Given the description of an element on the screen output the (x, y) to click on. 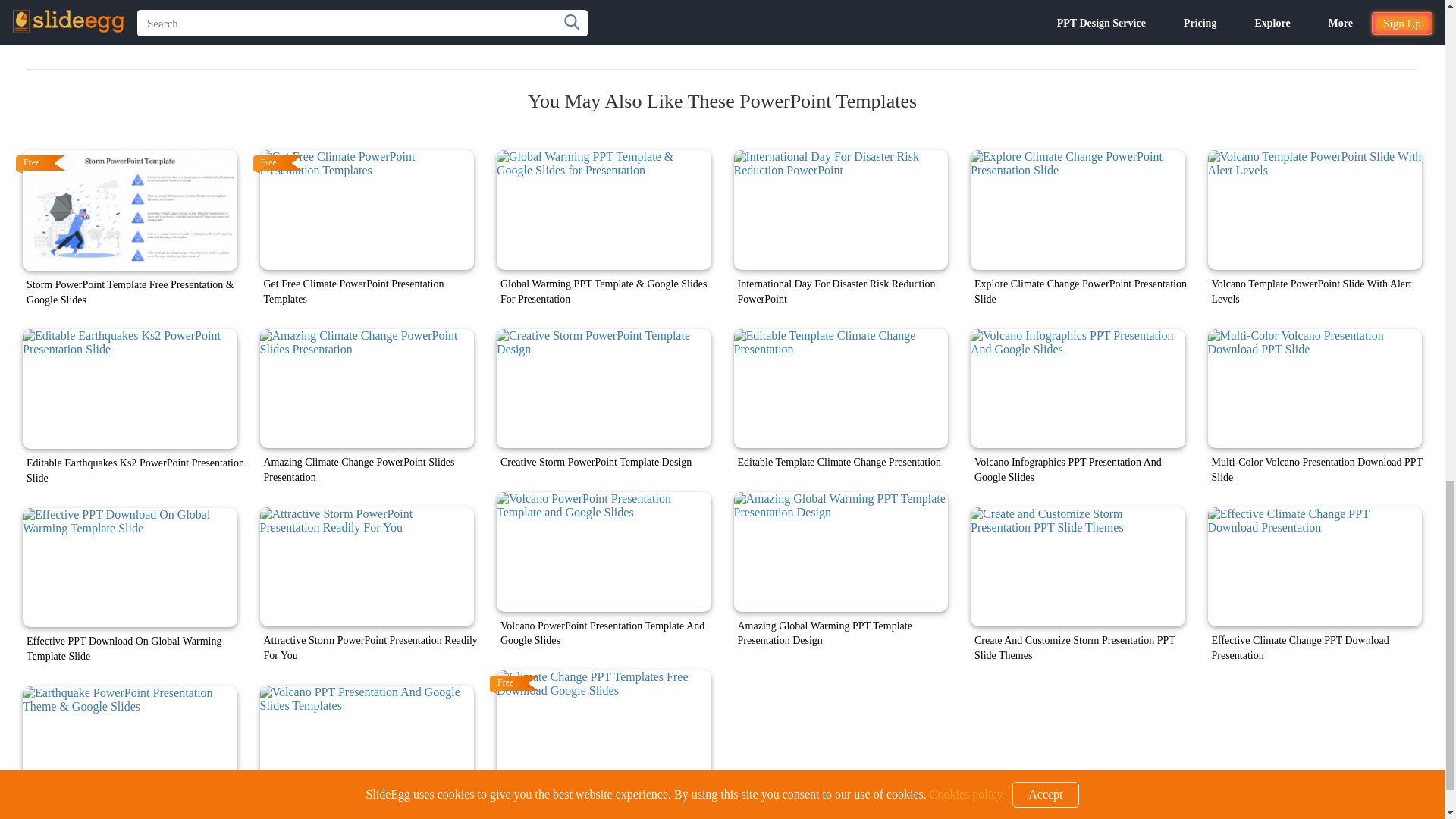
Effective PPT Download On Global Warming Template Slide  (130, 567)
International Day For Disaster Risk Reduction PowerPoint  (841, 209)
Editable Earthquakes Ks2 PowerPoint Presentation Slide  (130, 388)
Editable Template Climate Change Presentation  (841, 387)
Volcano PPT Presentation And Google Slides Templates (366, 745)
Climate Change PPT Templates Free Download Google Slides (603, 730)
Amazing Global Warming PPT Template Presentation Design (841, 551)
Volcano Infographics PPT Presentation And Google Slides (1078, 387)
Get Free Climate PowerPoint Presentation Templates (366, 209)
Creative Storm PowerPoint Template Design (603, 387)
Volcano PowerPoint Presentation Template and Google Slides (603, 551)
Amazing Climate Change PowerPoint Slides Presentation (366, 387)
Attractive Storm PowerPoint Presentation Readily For You (366, 566)
Explore Climate Change PowerPoint Presentation Slide (1078, 209)
